Given the description of an element on the screen output the (x, y) to click on. 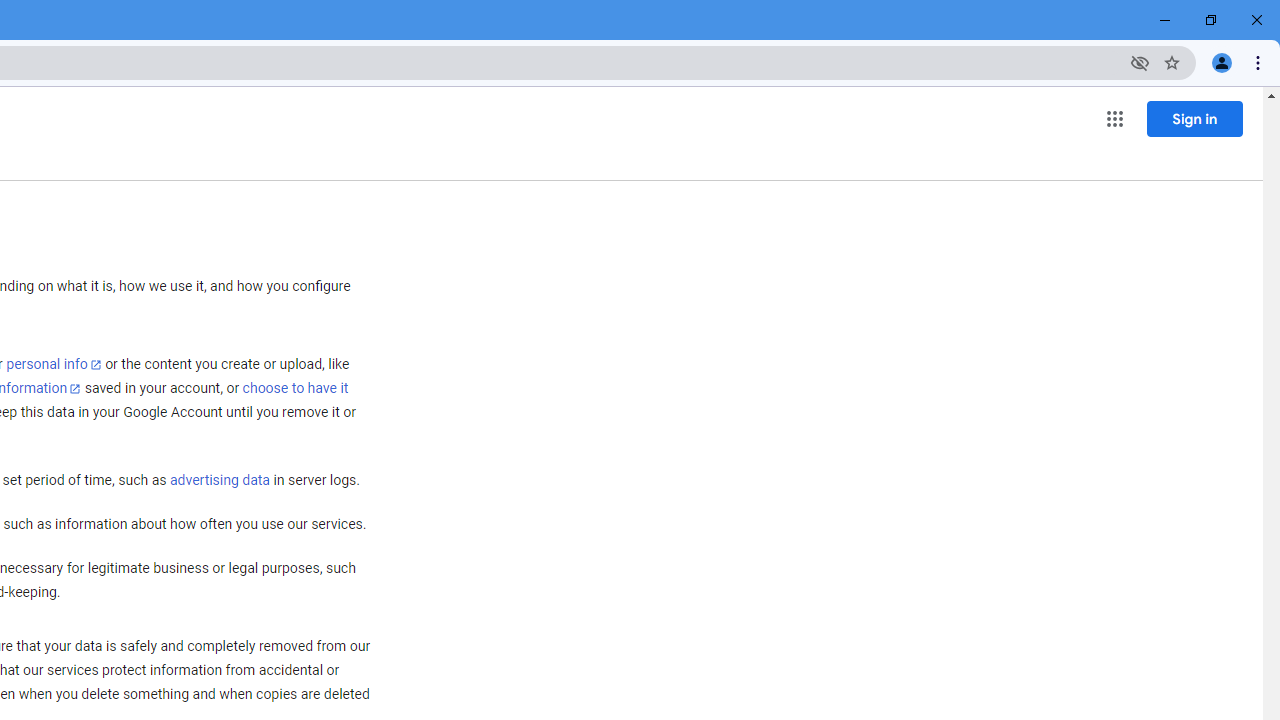
advertising data (219, 481)
personal info (54, 364)
